Given the description of an element on the screen output the (x, y) to click on. 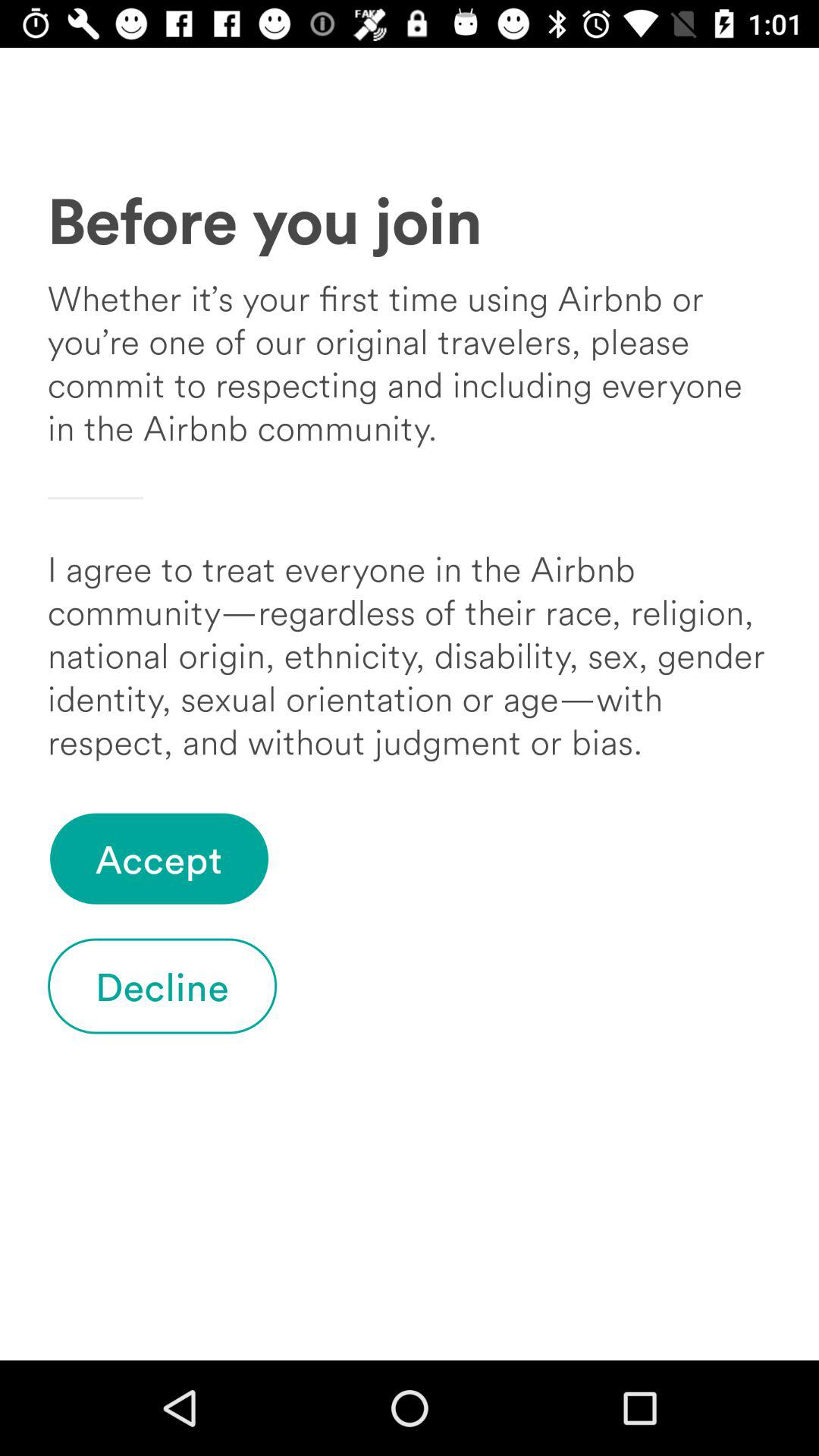
tap accept item (158, 858)
